Given the description of an element on the screen output the (x, y) to click on. 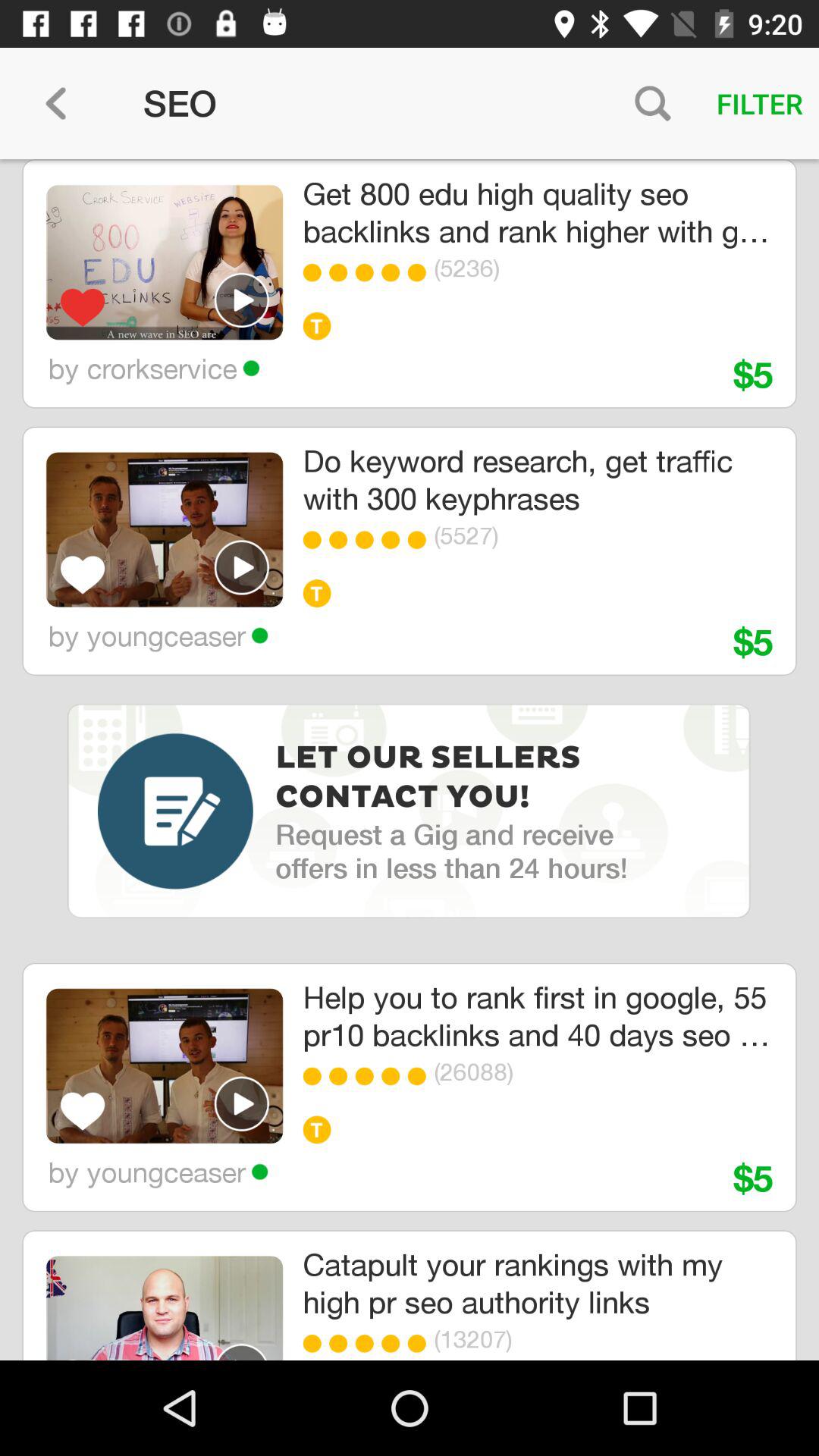
play the video (242, 1351)
